Given the description of an element on the screen output the (x, y) to click on. 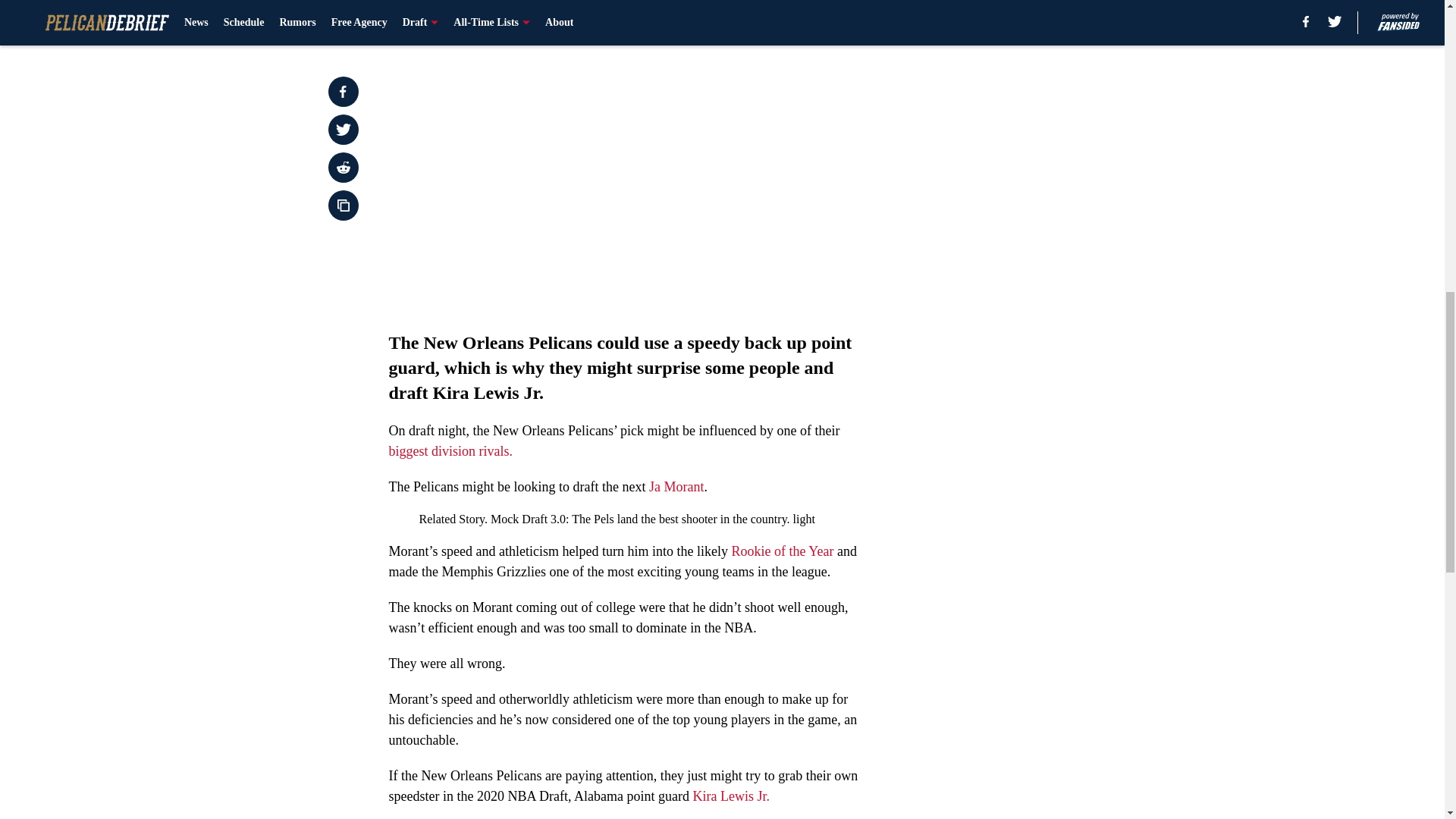
Rookie of the Year (781, 550)
Ja Morant (676, 486)
Prev (433, 20)
Next (813, 20)
biggest division rivals. (450, 450)
Kira Lewis Jr. (730, 795)
